Given the description of an element on the screen output the (x, y) to click on. 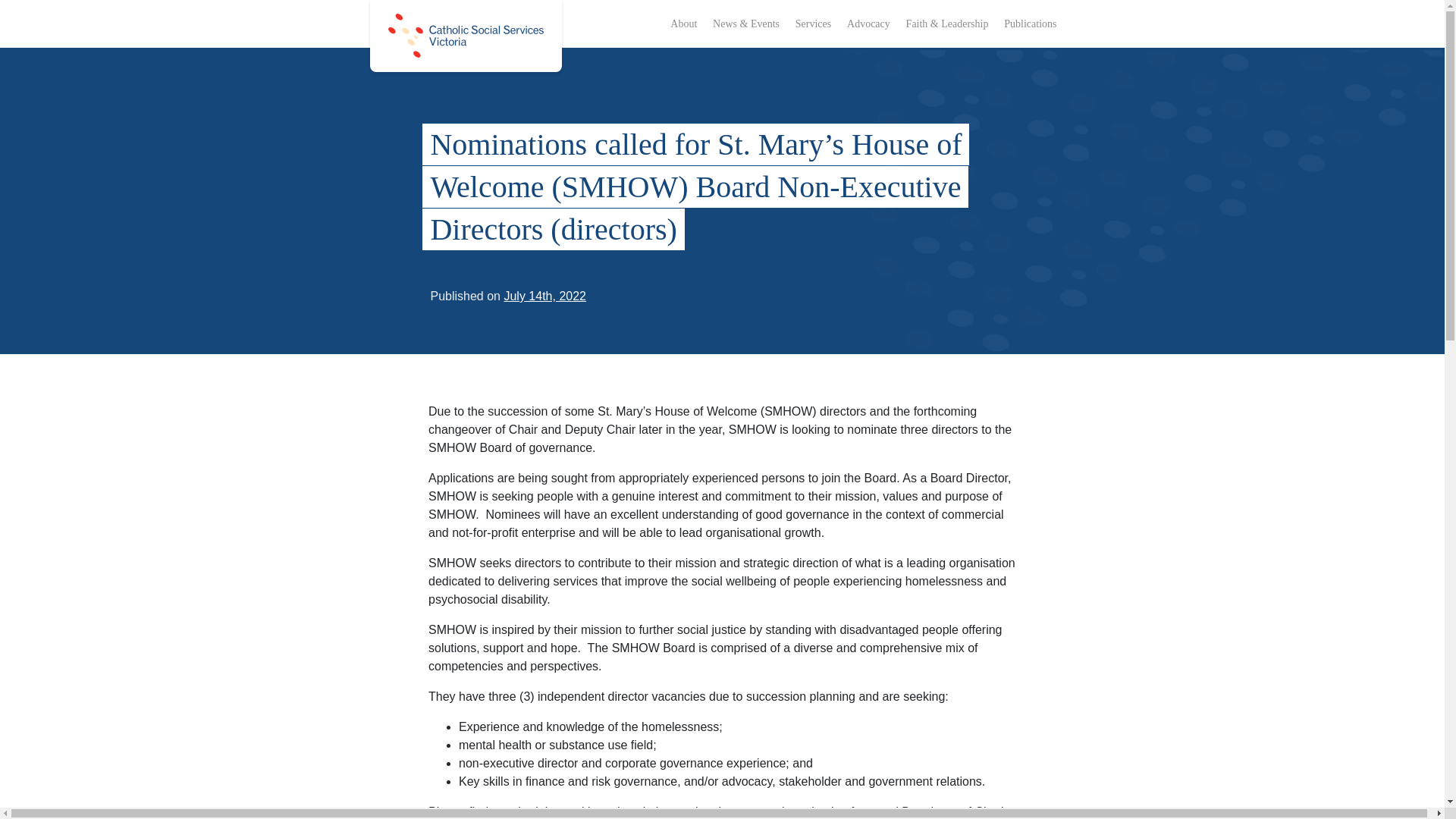
Services (813, 23)
Services (813, 23)
July 14th, 2022 (544, 295)
About (683, 23)
Advocacy (868, 23)
About (683, 23)
Publications (1029, 23)
Advocacy (868, 23)
